Given the description of an element on the screen output the (x, y) to click on. 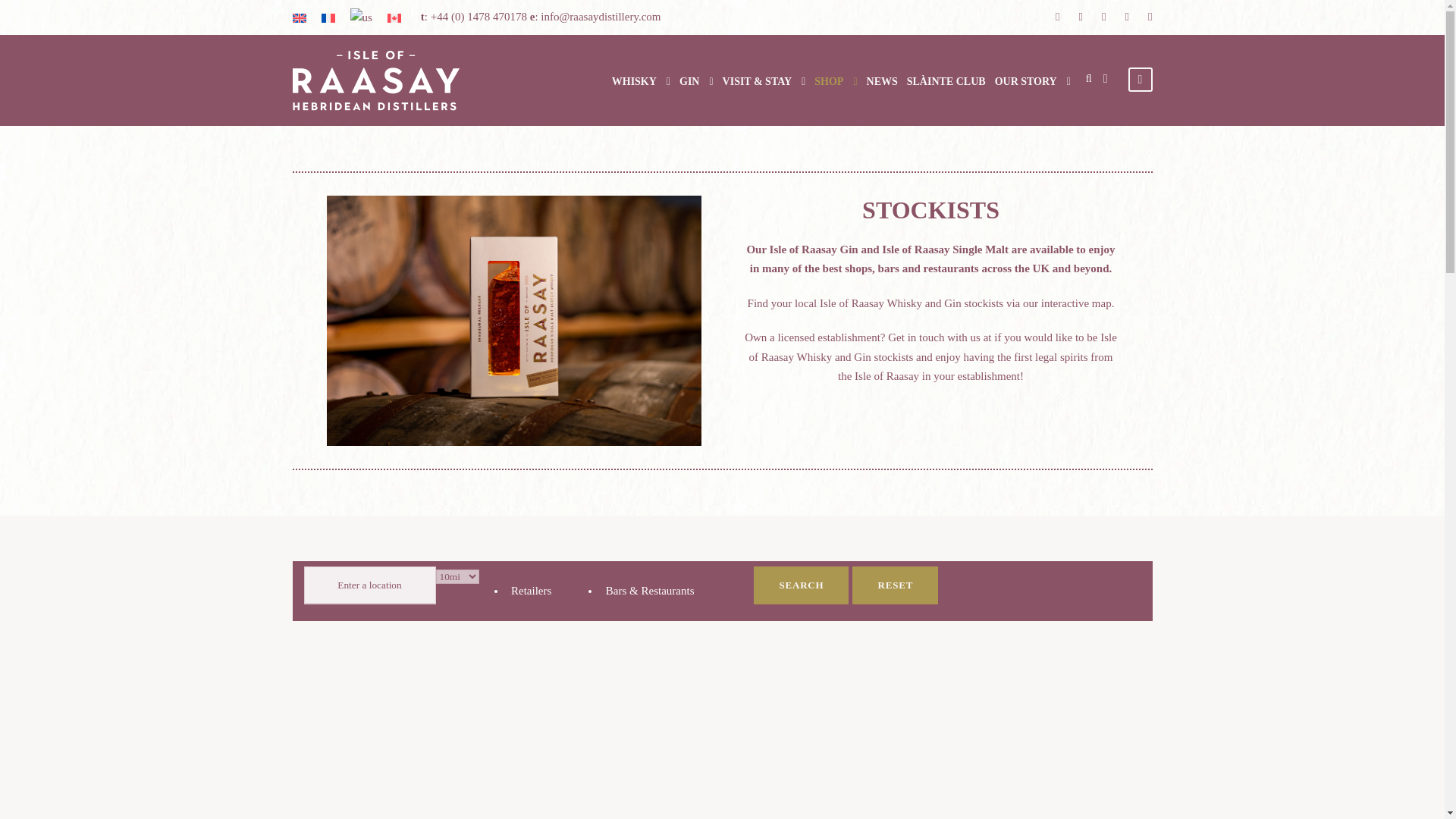
Isle of Raasay Distillery (376, 79)
Search (801, 585)
Search (801, 585)
Trade Customer Portal (831, 668)
Reset (894, 585)
Isle of Raasay Single Malt Inaugural Release (513, 320)
Career Opportunities at Isle of Raasay Distillery (917, 668)
Raasay Distillery Accommodation Accessibility Guide (713, 668)
Raasay Distillery Visitor Centre Accessibility Guide (554, 668)
Terms Of Use (709, 771)
